Given the description of an element on the screen output the (x, y) to click on. 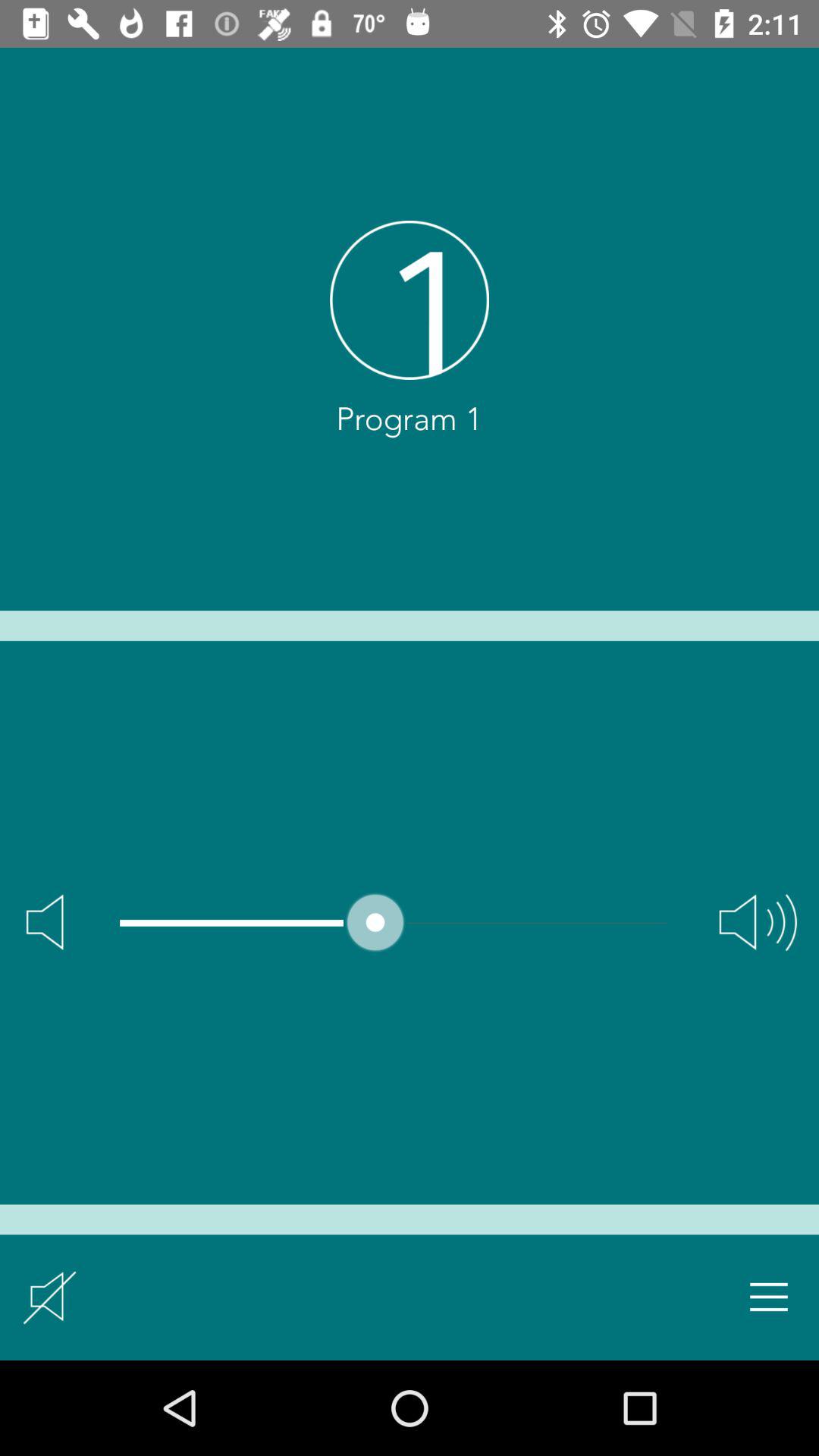
view menu (768, 1297)
